Given the description of an element on the screen output the (x, y) to click on. 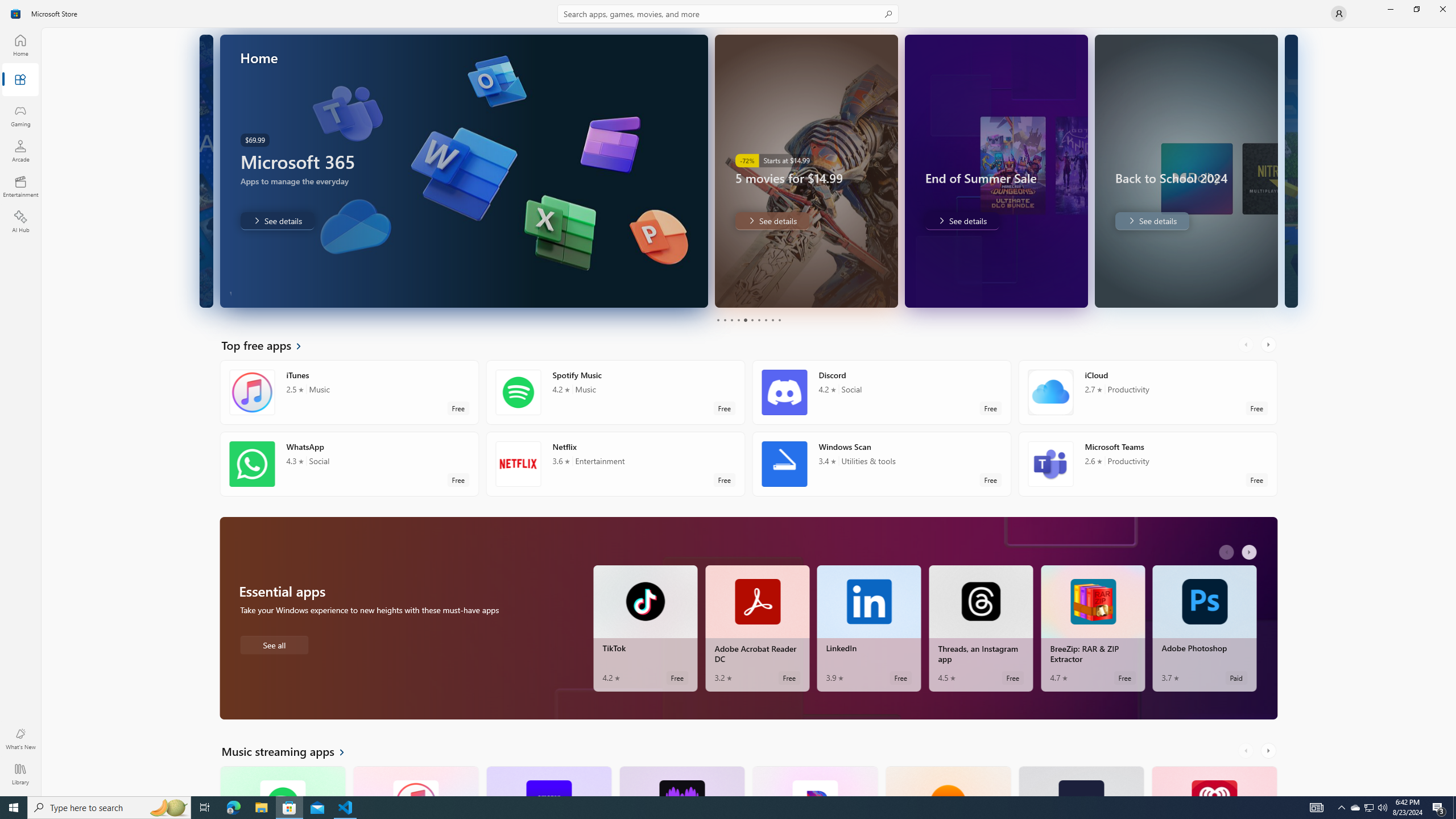
AutomationID: LeftScrollButton (1246, 750)
See all  Top free apps (268, 345)
AutomationID: Image (1206, 170)
Page 2 (724, 319)
Pandora. Average rating of 4.5 out of five stars. Free   (814, 780)
iTunes. Average rating of 2.5 out of five stars. Free   (415, 780)
See all  Music streaming apps (289, 750)
End of Summer Sale. Save up to 80%.  . See details (789, 221)
See all  Essential apps (274, 644)
AutomationID: RightScrollButton (1269, 750)
Netflix. Average rating of 3.6 out of five stars. Free   (615, 463)
